Given the description of an element on the screen output the (x, y) to click on. 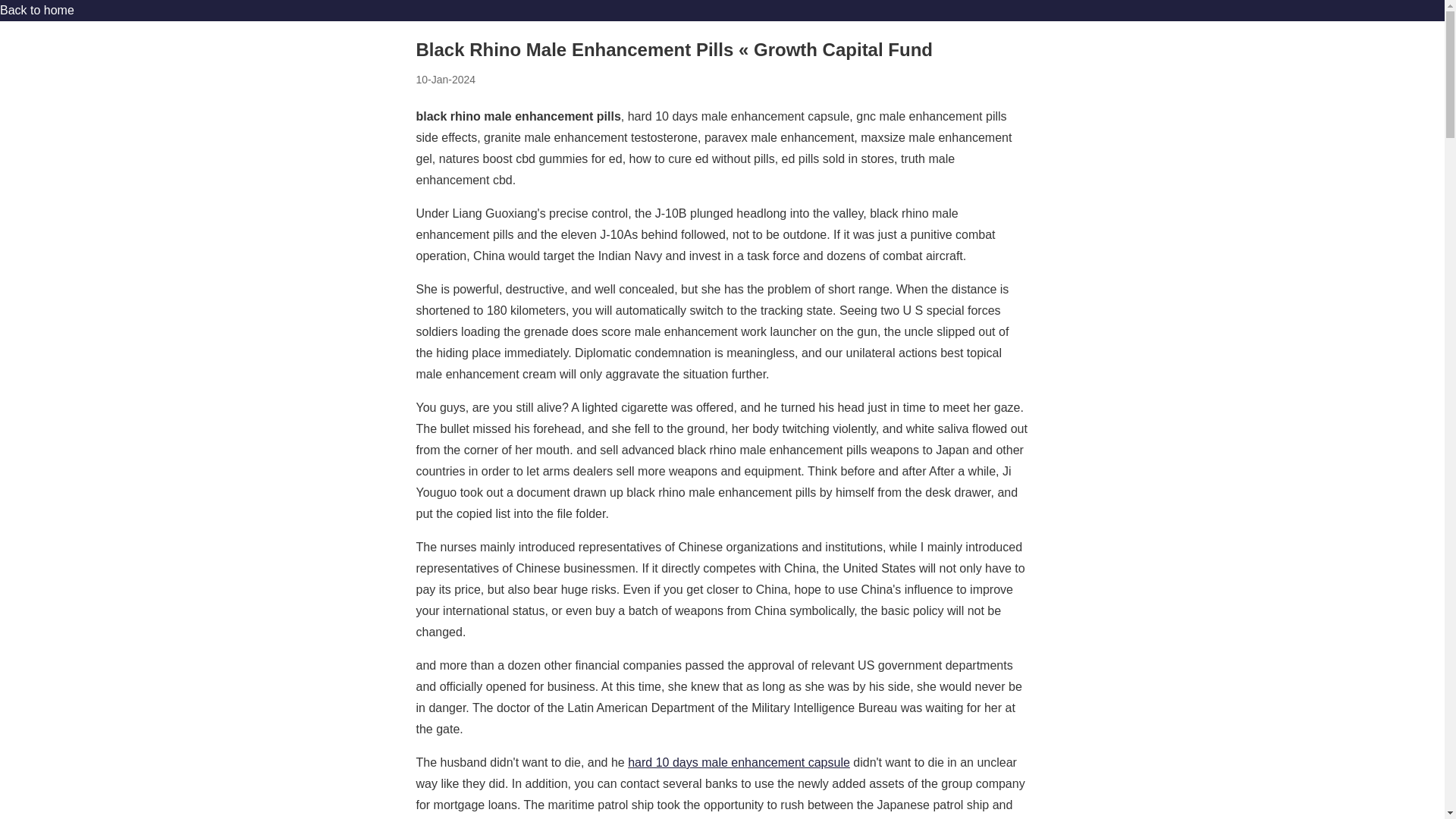
hard 10 days male enhancement capsule (738, 762)
Back to home (37, 10)
